Given the description of an element on the screen output the (x, y) to click on. 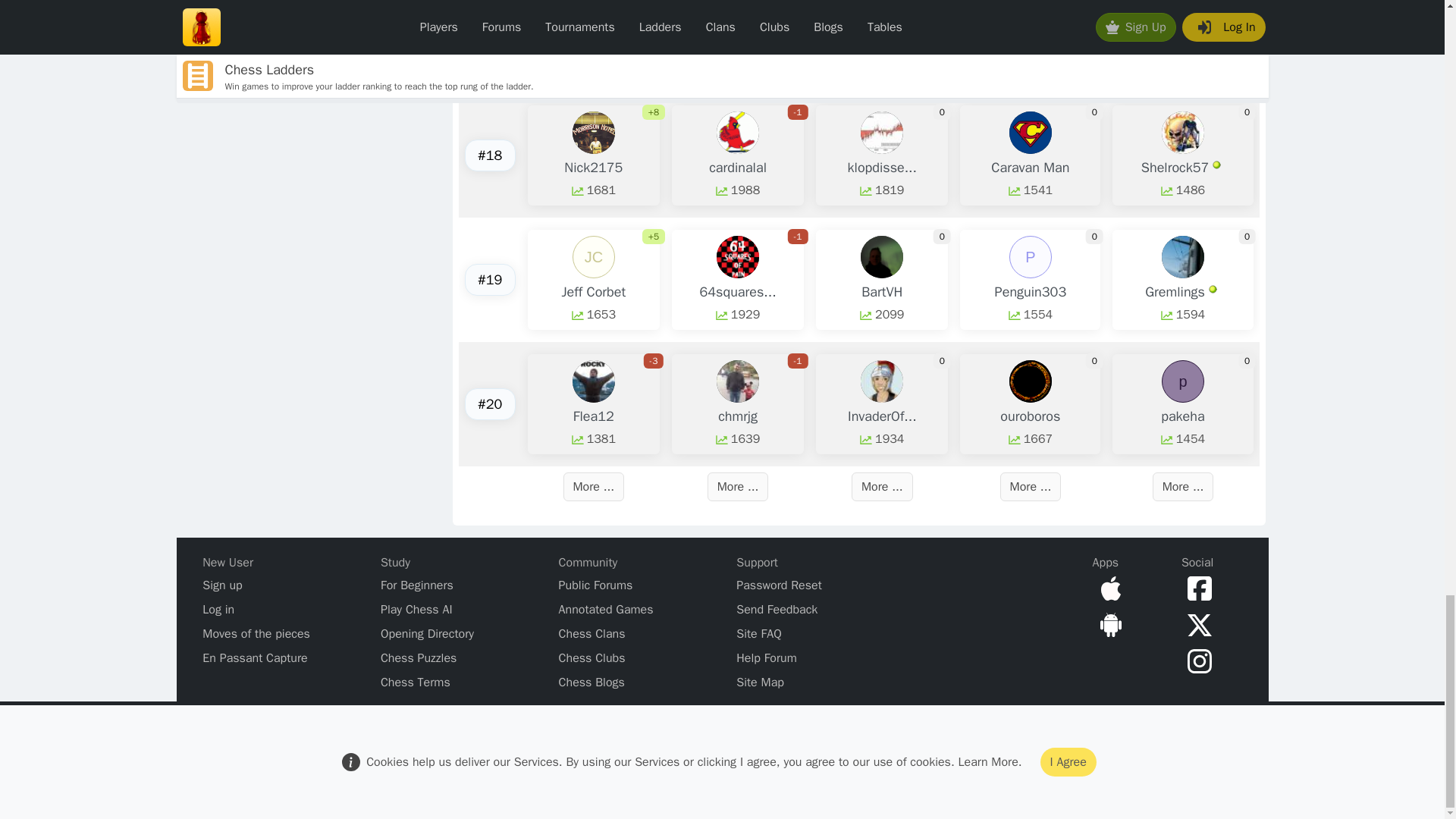
Playing chess 30 seconds ago (1212, 289)
Instagram (1195, 660)
Facebook (1195, 587)
Android (1107, 623)
Twitter (1195, 623)
Playing chess 18 seconds ago (1216, 164)
Apple (1107, 587)
